Given the description of an element on the screen output the (x, y) to click on. 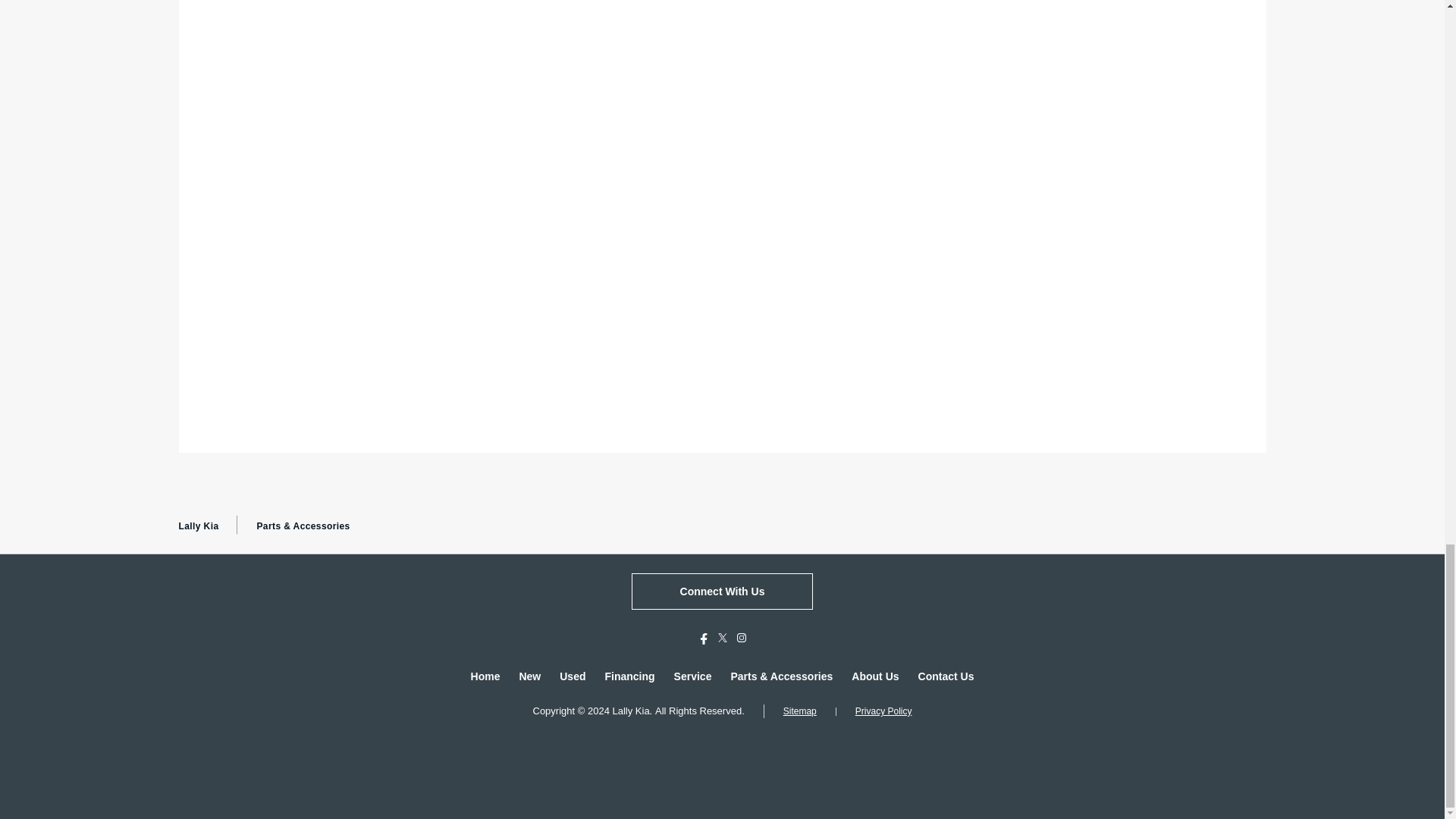
Go to Lally Kia. (199, 525)
Powered by EDealer (721, 745)
